Given the description of an element on the screen output the (x, y) to click on. 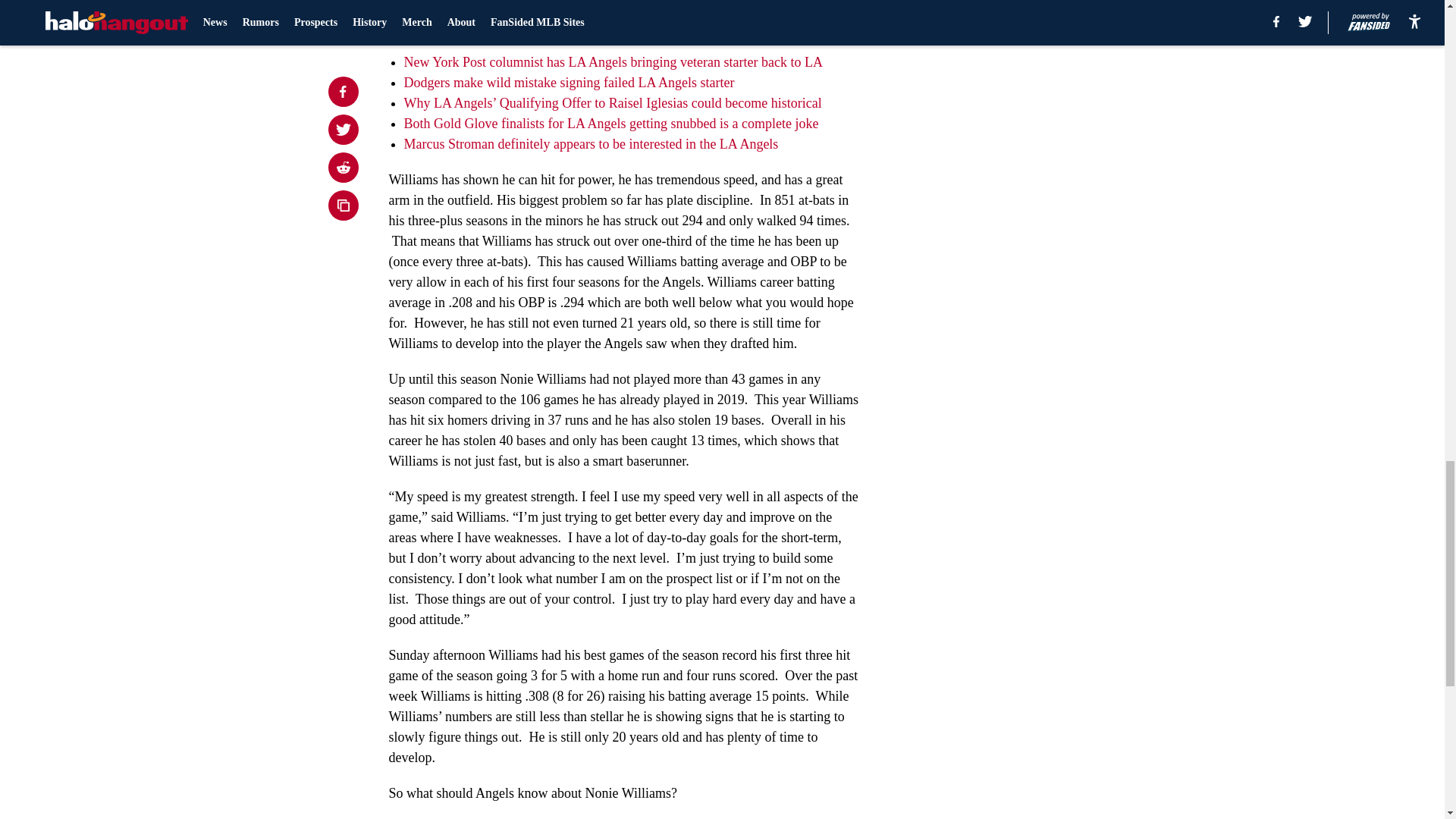
Dodgers make wild mistake signing failed LA Angels starter (568, 82)
